Given the description of an element on the screen output the (x, y) to click on. 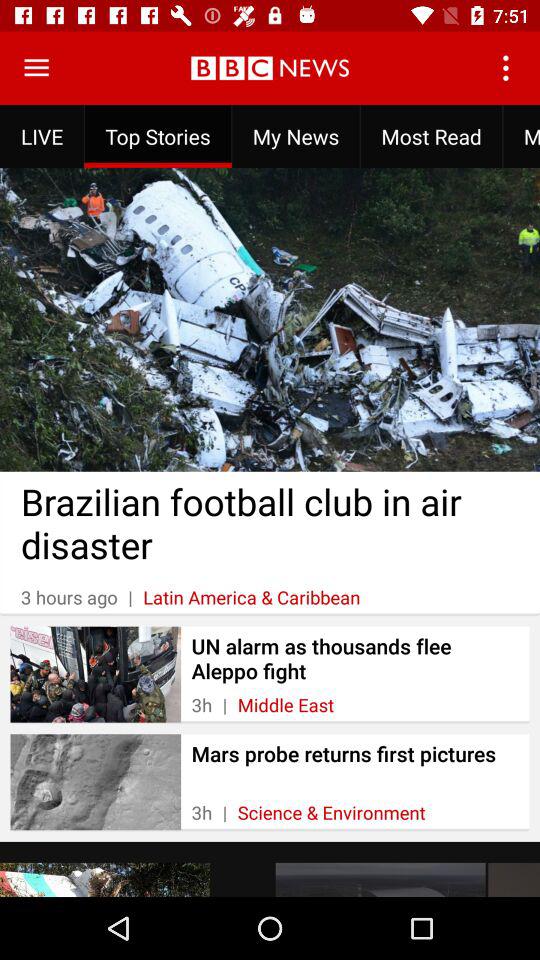
select the middle east item (285, 704)
